Given the description of an element on the screen output the (x, y) to click on. 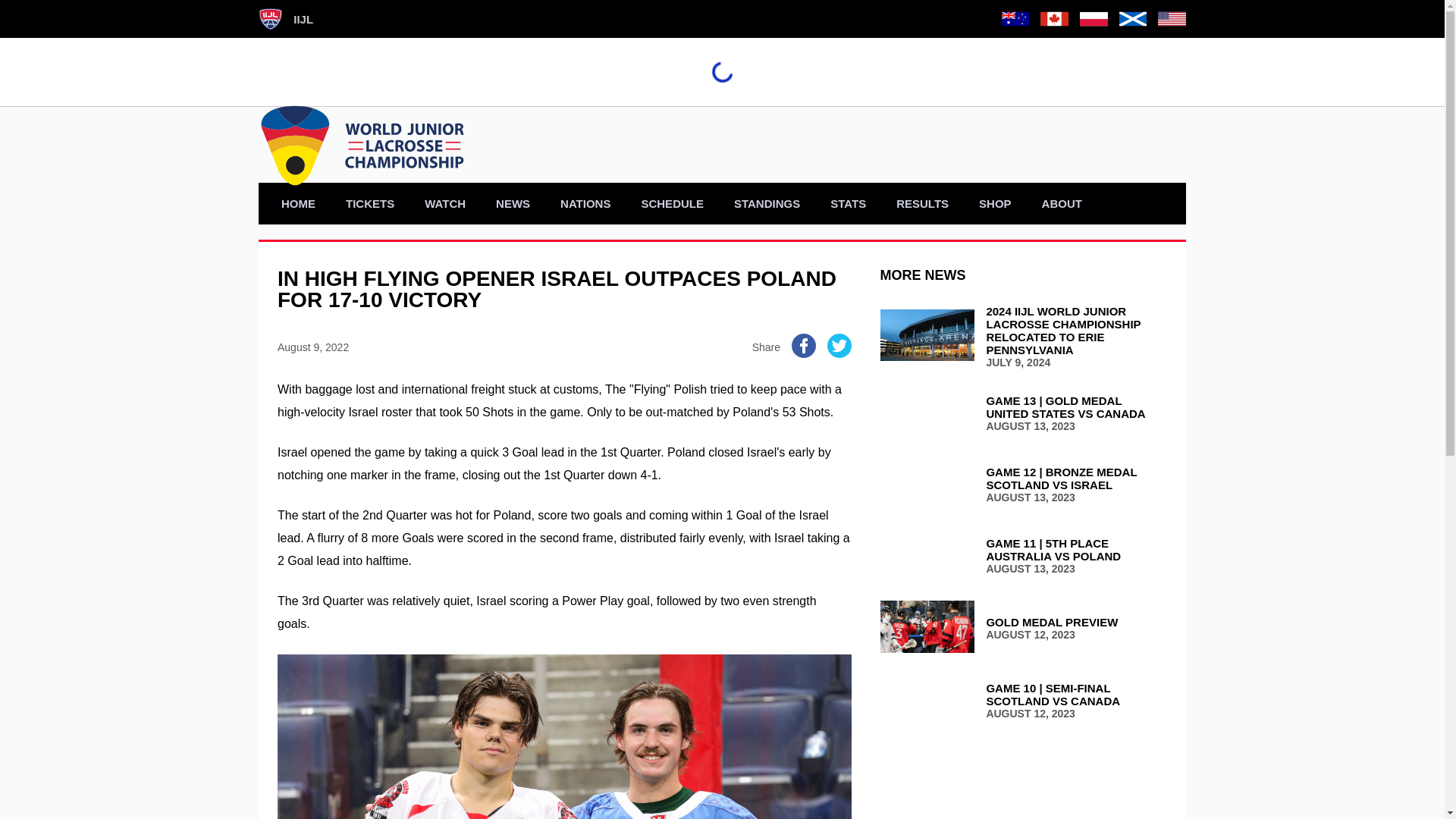
STANDINGS (766, 203)
SCHEDULE (671, 203)
STATS (847, 203)
WATCH (445, 203)
IIJL (286, 18)
HOME (297, 203)
NEWS (512, 203)
